Given the description of an element on the screen output the (x, y) to click on. 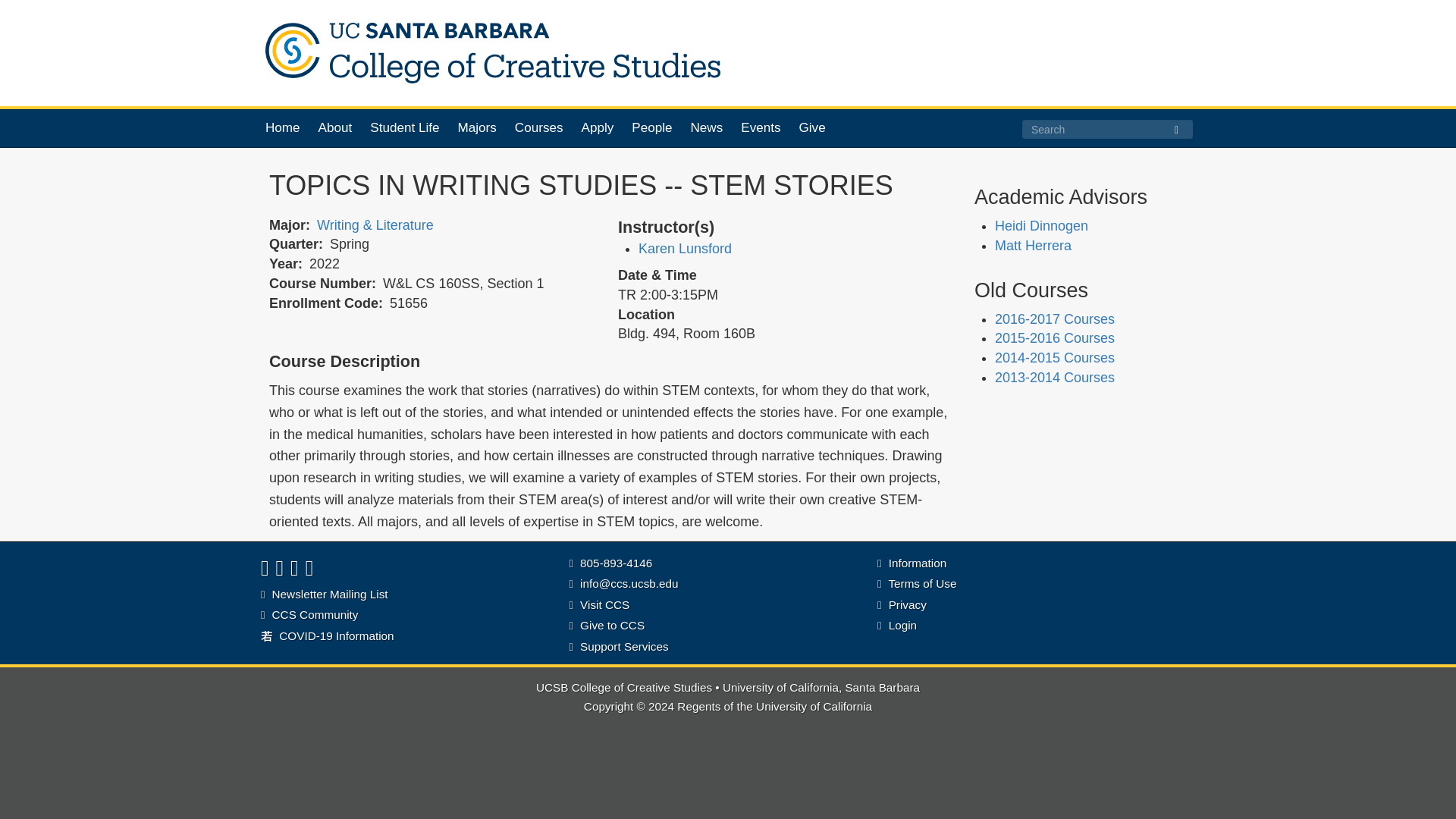
Information (911, 562)
Student Life (404, 127)
Privacy (901, 604)
Heidi Dinnogen (1040, 225)
Home (485, 53)
Majors (477, 127)
Matt Herrera (1032, 245)
COVID-19 Information (327, 635)
About (335, 127)
2013-2014 Courses (1054, 377)
Home (281, 127)
Support Services (618, 645)
CCS Community (309, 614)
Give to CCS (607, 625)
